Given the description of an element on the screen output the (x, y) to click on. 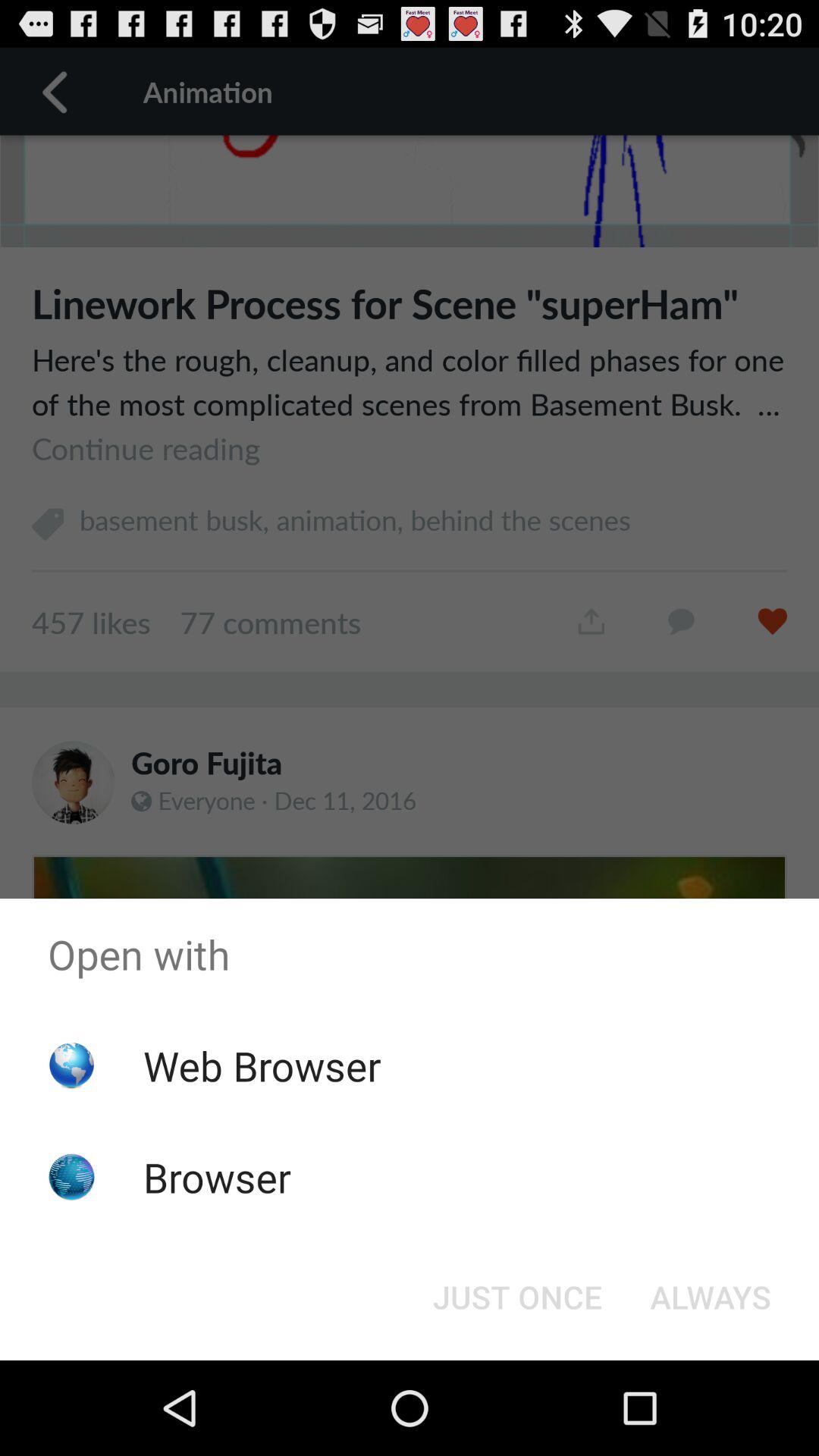
tap the always button (710, 1296)
